Given the description of an element on the screen output the (x, y) to click on. 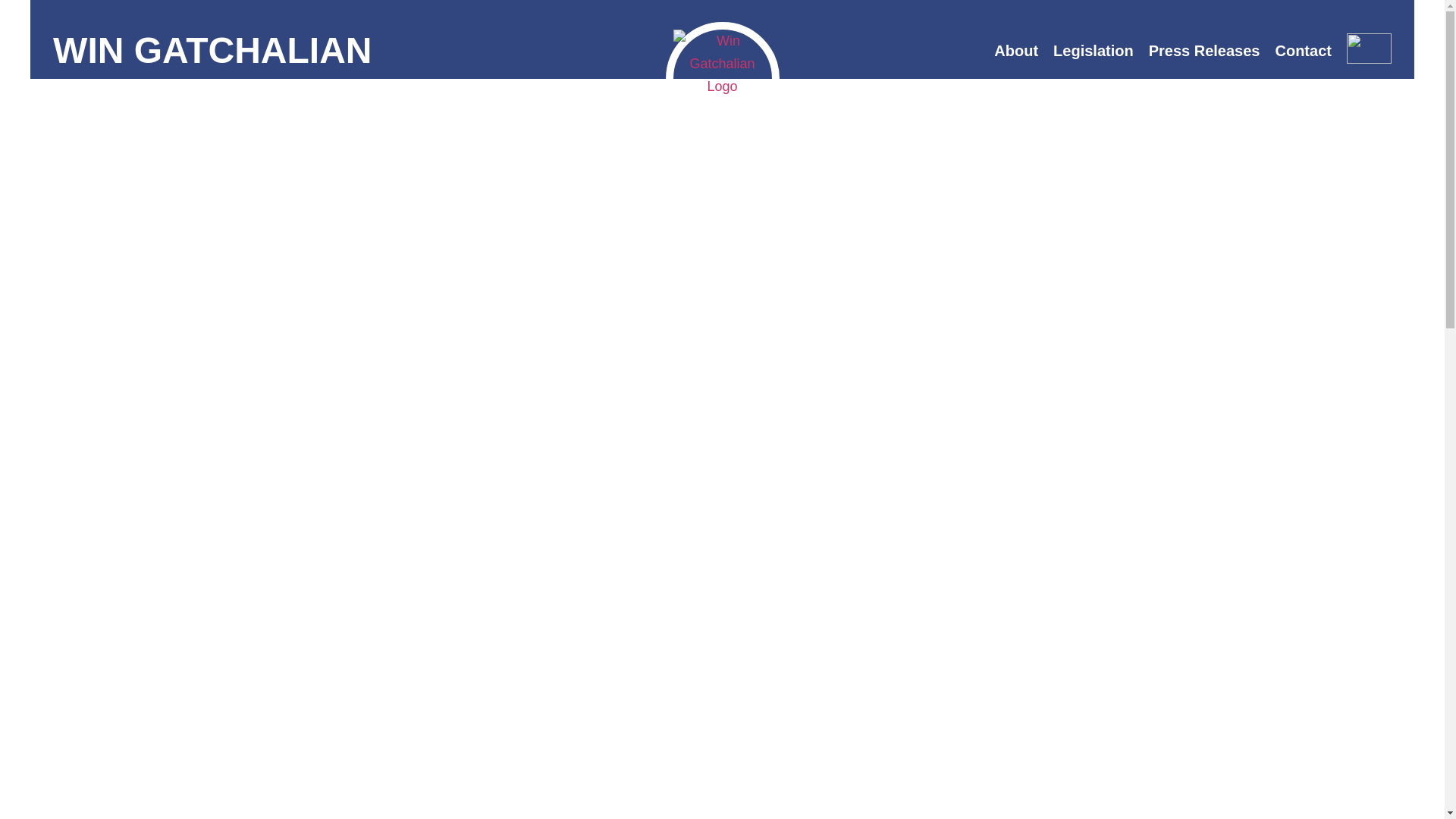
Contact (1302, 50)
About (1016, 50)
Legislation (1093, 50)
Press Releases (1204, 50)
